Given the description of an element on the screen output the (x, y) to click on. 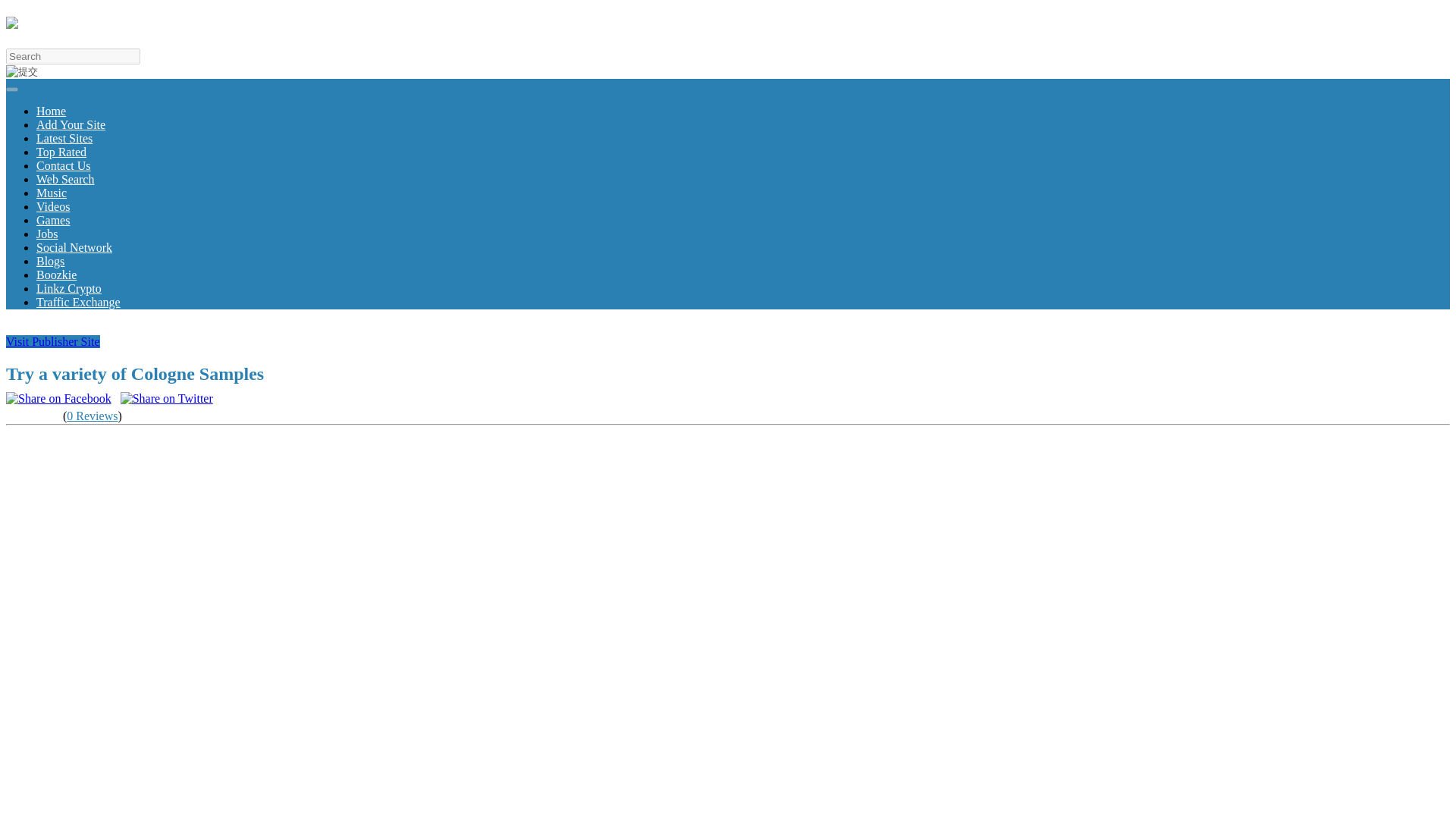
Videos (52, 205)
Web Search (65, 178)
Traffic Exchange (78, 301)
Linkz Crypto (68, 287)
Top Rated (60, 151)
Blogs (50, 260)
Add Your Site (70, 124)
Jobs (47, 233)
Home (50, 110)
Contact Us (63, 164)
Music (51, 192)
Games (52, 219)
Boozkie (56, 274)
Latest Sites (64, 137)
Visit Publisher Site (52, 341)
